Given the description of an element on the screen output the (x, y) to click on. 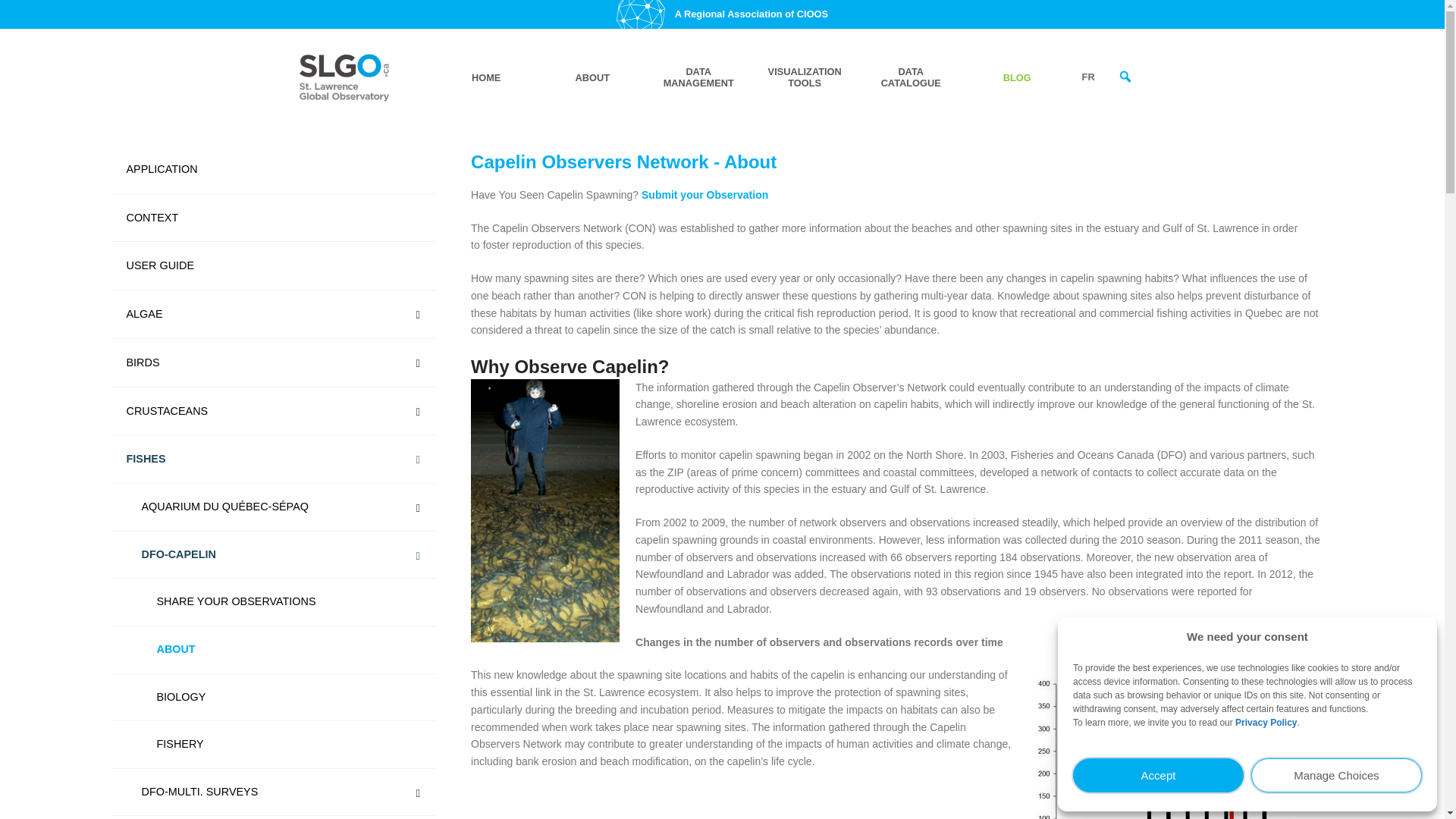
FR (1088, 77)
ALGAE (271, 314)
DATA MANAGEMENT (698, 77)
DATA CATALOGUE (910, 77)
USER GUIDE (271, 265)
APPLICATION (271, 169)
ABOUT (591, 77)
VISUALIZATION TOOLS (804, 77)
HOME (485, 77)
Search (1121, 112)
CONTEXT (271, 218)
Accept (1158, 775)
BIRDS (271, 363)
Manage Choices (1336, 775)
A Regional Association of CIOOS (751, 13)
